Given the description of an element on the screen output the (x, y) to click on. 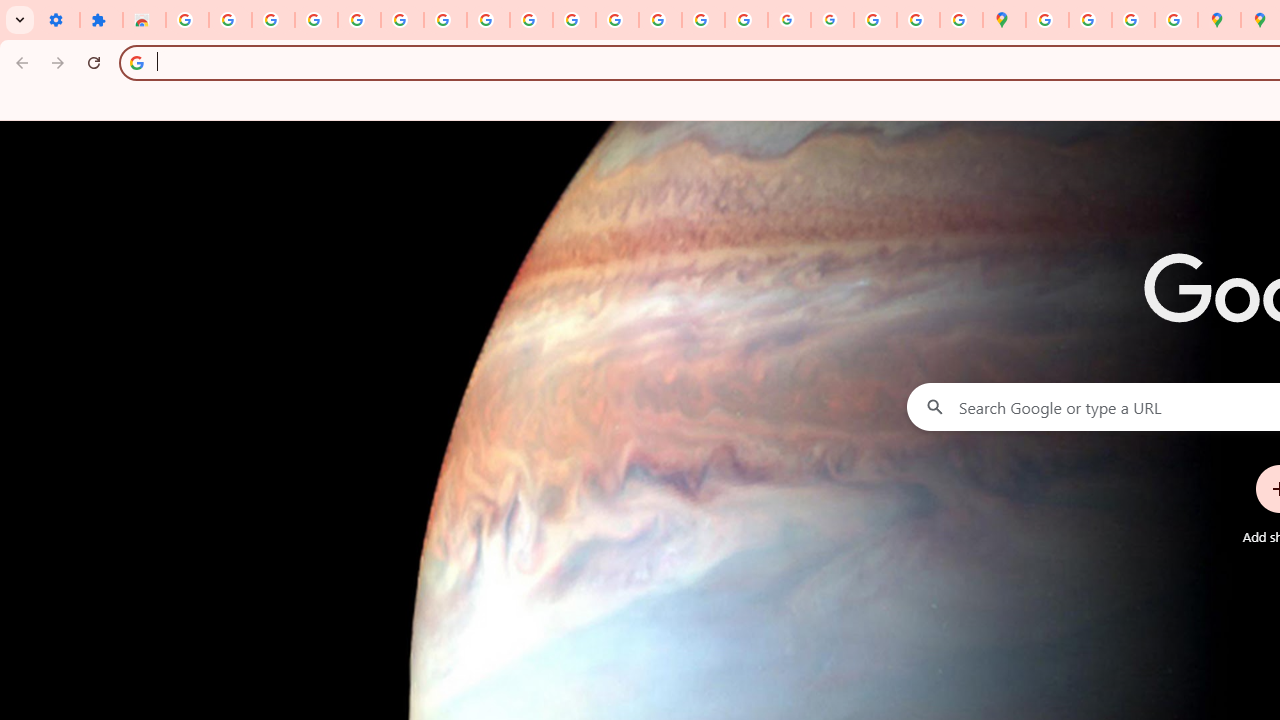
Google Account (488, 20)
